Given the description of an element on the screen output the (x, y) to click on. 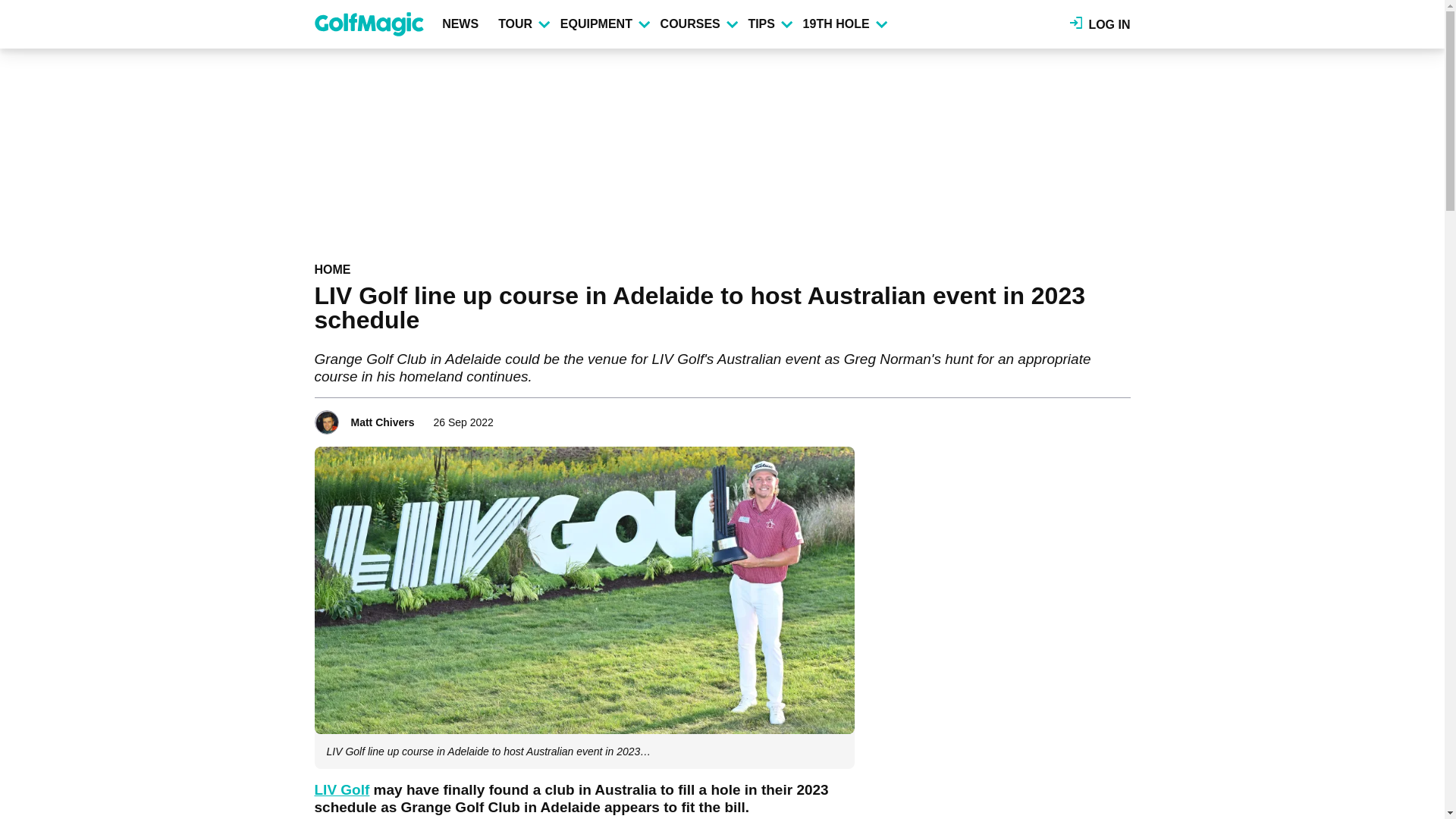
Share to Linkedin (1097, 417)
Share to Email (1119, 417)
LOG IN (1100, 24)
NEWS (463, 24)
EQUIPMENT (603, 24)
TOUR (523, 24)
Share to Facebook (1055, 417)
Share to X (1076, 417)
